Given the description of an element on the screen output the (x, y) to click on. 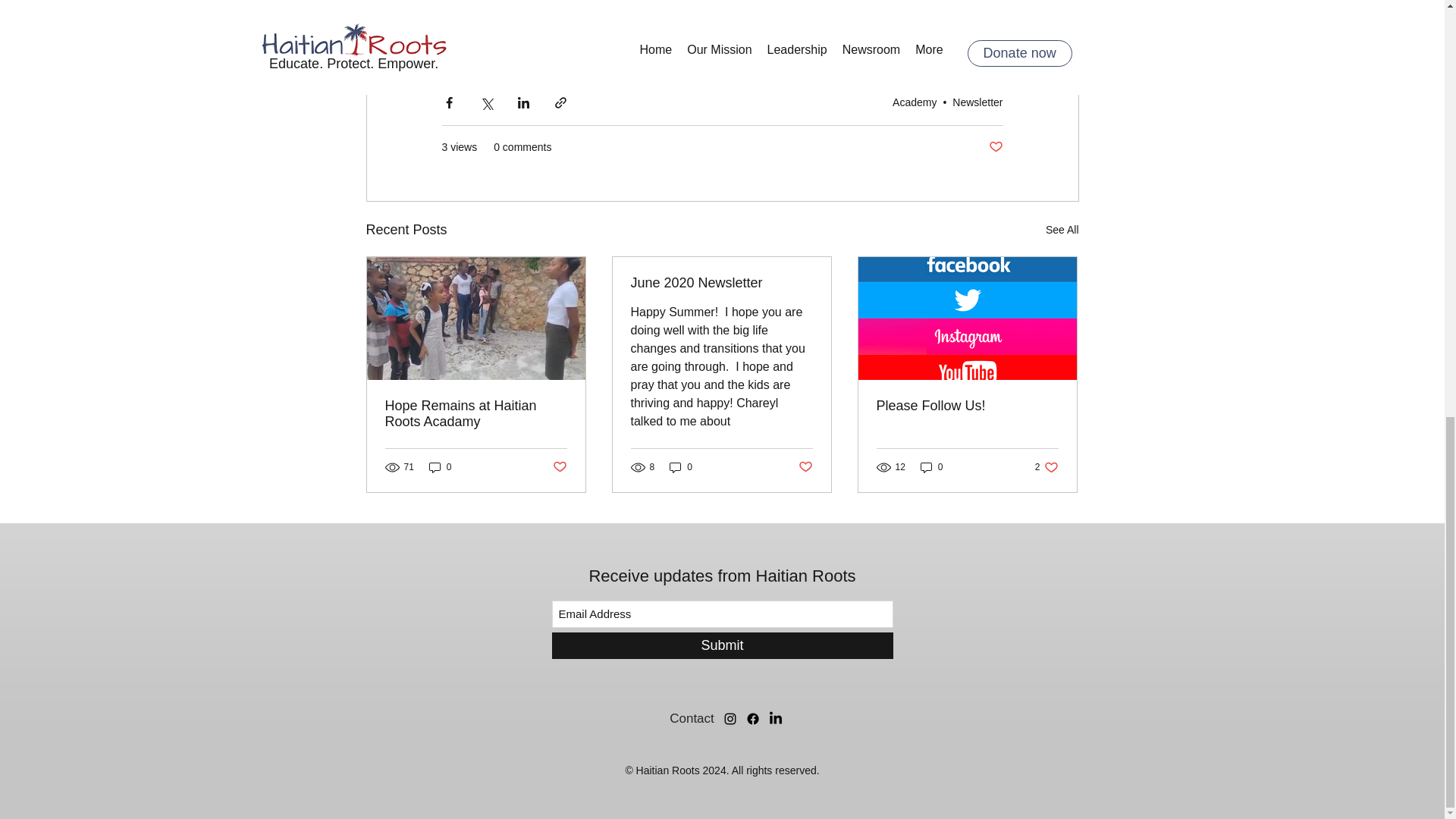
June 2020 Newsletter (721, 283)
0 (440, 466)
Hope Remains at Haitian Roots Acadamy (476, 413)
0 (931, 466)
Academy (914, 101)
Post not marked as liked (558, 467)
Post not marked as liked (1046, 466)
Post not marked as liked (804, 467)
Submit (995, 147)
Please Follow Us! (722, 645)
Newsletter (967, 406)
Contact (977, 101)
0 (691, 718)
See All (681, 466)
